Given the description of an element on the screen output the (x, y) to click on. 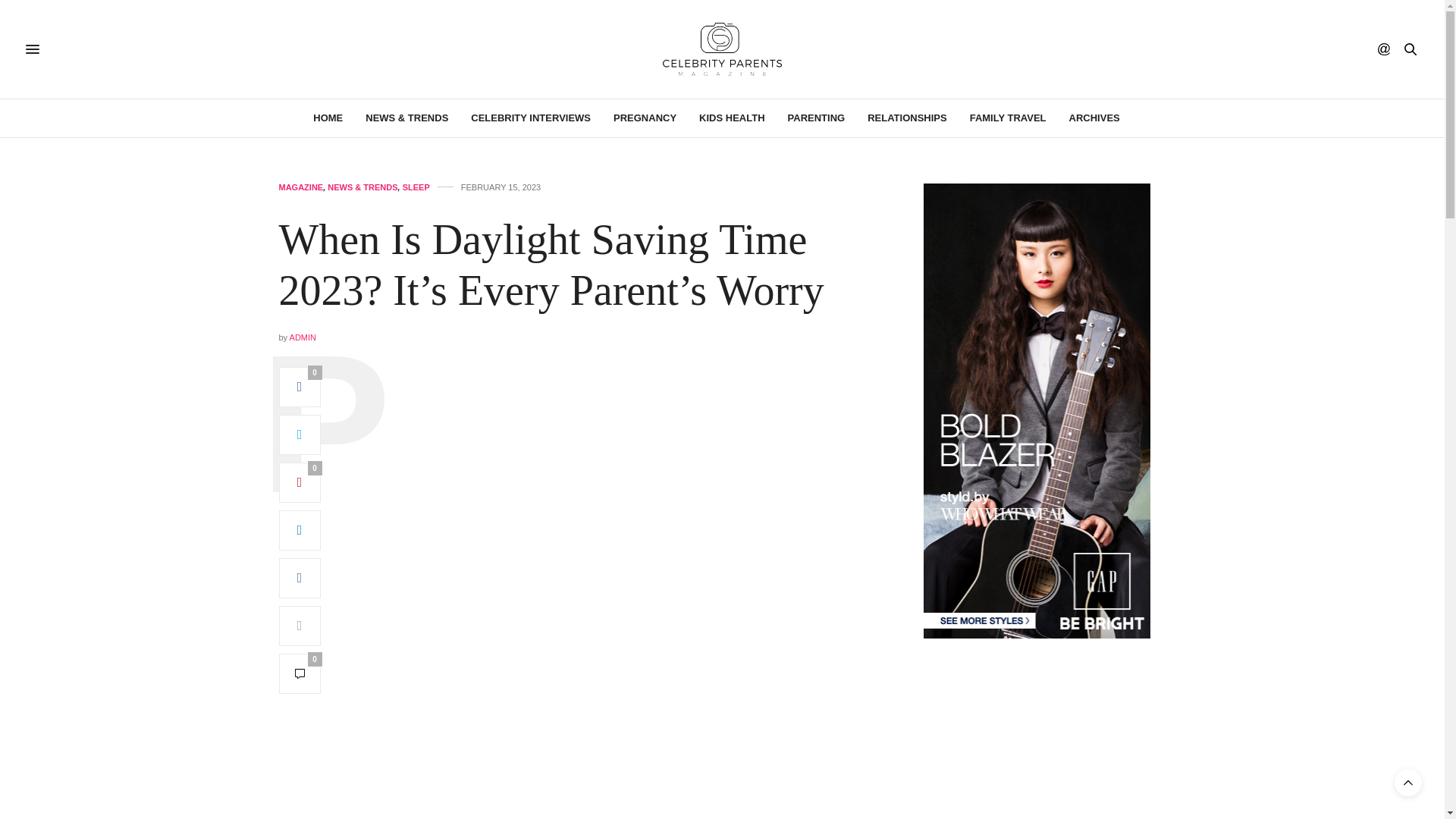
Posts by admin (302, 337)
SLEEP (416, 187)
0 (299, 386)
Scroll To Top (1408, 782)
PARENTING (816, 118)
KIDS HEALTH (731, 118)
0 (299, 482)
CELEBRITY INTERVIEWS (530, 118)
PREGNANCY (644, 118)
Celebrity Parents Magazine (721, 49)
